Given the description of an element on the screen output the (x, y) to click on. 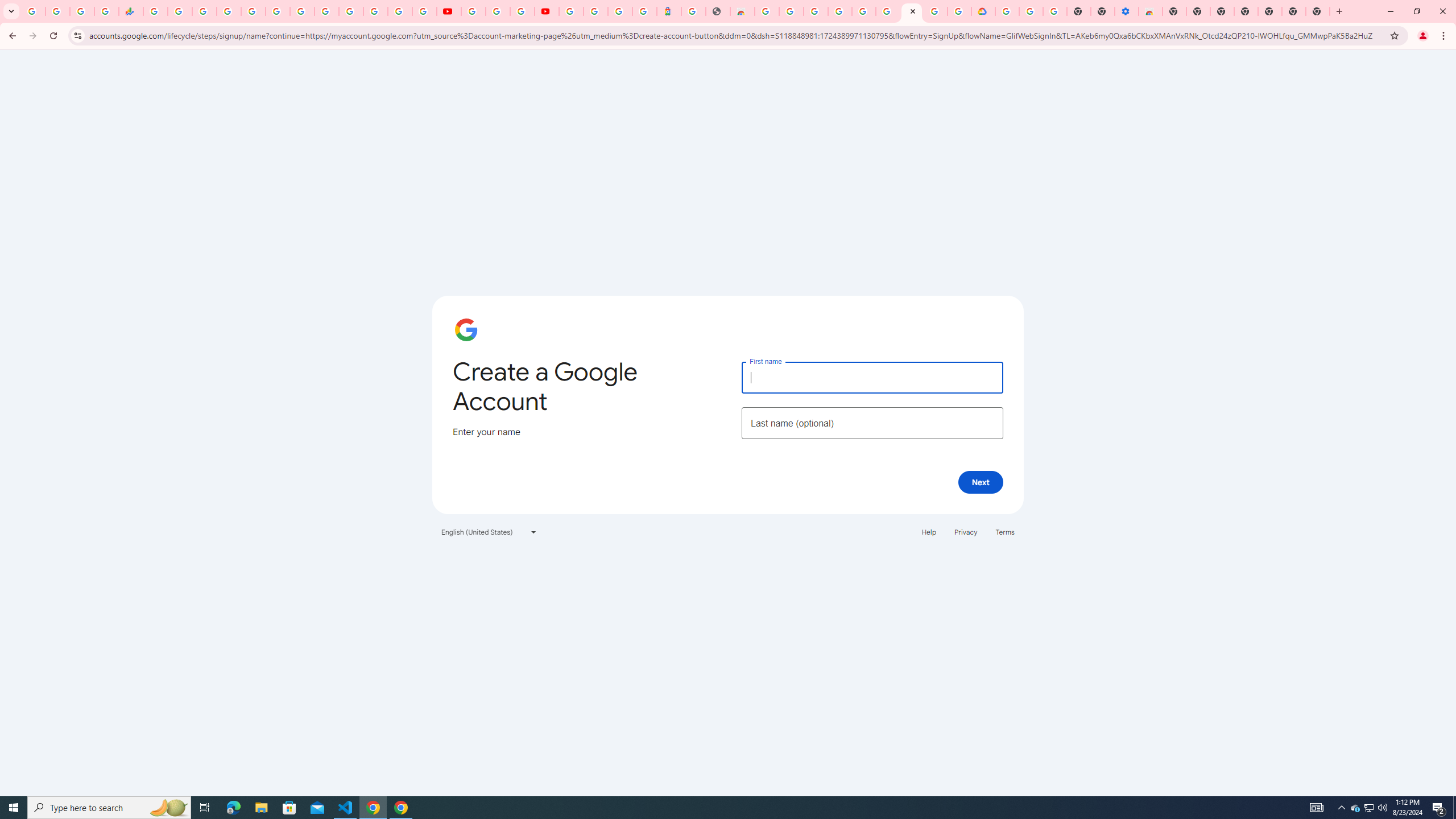
YouTube (472, 11)
Last name (optional) (871, 422)
Sign in - Google Accounts (935, 11)
Turn cookies on or off - Computer - Google Account Help (1054, 11)
Create your Google Account (522, 11)
Settings - Accessibility (1126, 11)
